Given the description of an element on the screen output the (x, y) to click on. 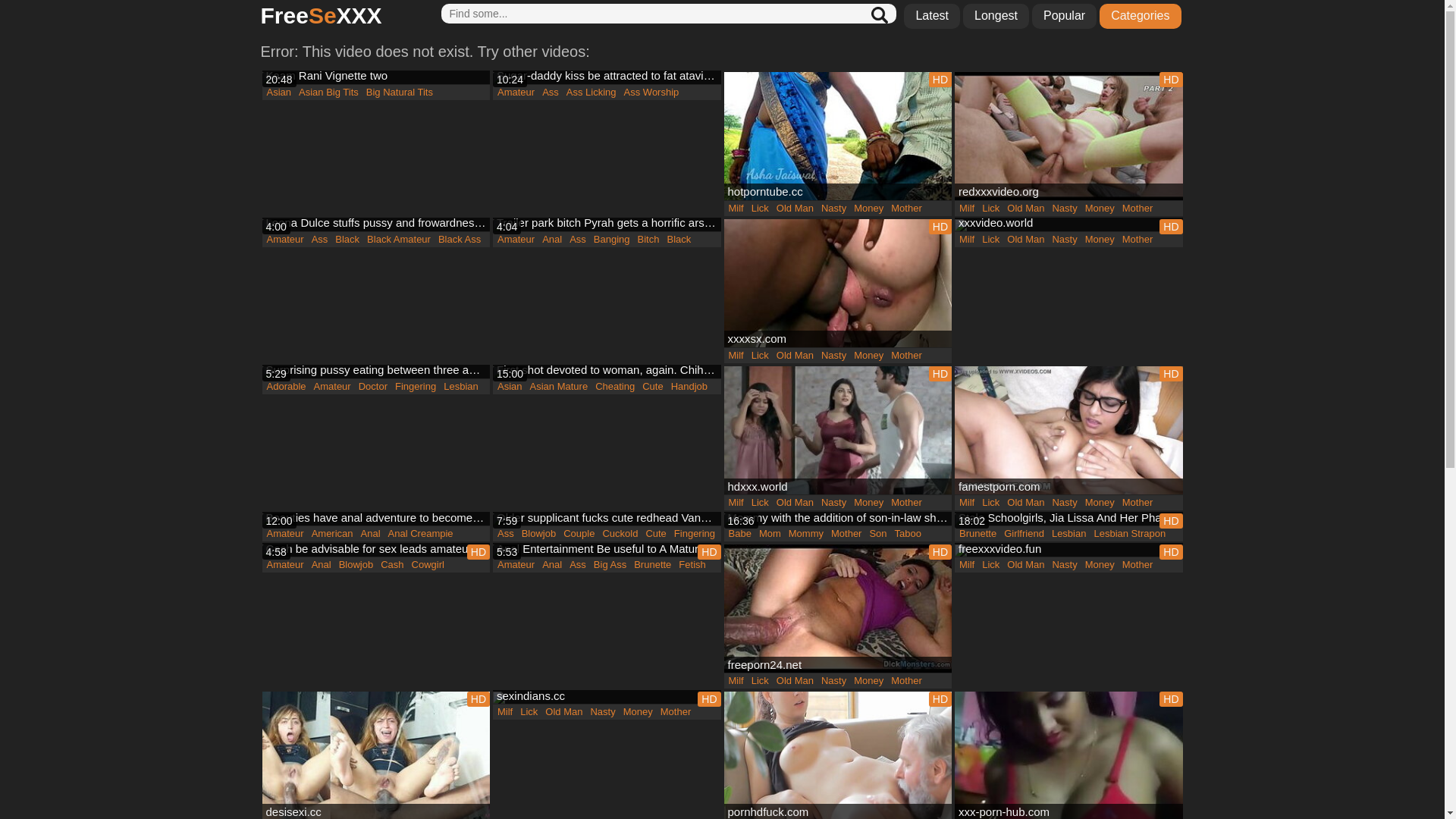
hdxxx.world
HD Element type: text (837, 430)
Lick Element type: text (759, 355)
Mother Element type: text (906, 502)
redxxxvideo.org
HD Element type: text (1068, 136)
Anal Creampie Element type: text (420, 533)
Lick Element type: text (990, 239)
Amateur Element type: text (284, 564)
Black Amateur Element type: text (398, 239)
Amateur Element type: text (284, 239)
Money Element type: text (637, 711)
Use Latin letters, digits, space, - Element type: hover (668, 13)
Milf Element type: text (966, 239)
Ass Element type: text (577, 239)
Fingering Element type: text (694, 533)
hotporntube.cc
HD Element type: text (837, 136)
xxxvideo.world
HD Element type: text (1068, 225)
freexxxvideo.fun
HD Element type: text (1068, 550)
sexindians.cc
HD Element type: text (606, 697)
Beauties have anal adventure to become stars
12:00 Element type: text (376, 519)
Bitch Element type: text (648, 239)
Popular Element type: text (1064, 15)
Blowjob Element type: text (538, 533)
Big Ass Element type: text (609, 564)
Anal Element type: text (551, 564)
Old Man Element type: text (794, 355)
Asian Element type: text (278, 92)
famestporn.com
HD Element type: text (1068, 430)
Amateur Element type: text (515, 239)
Ass Licking Element type: text (591, 92)
Nasty Element type: text (602, 711)
Old Man Element type: text (794, 680)
Cute Element type: text (652, 386)
Ass Element type: text (550, 92)
Old Man Element type: text (1025, 564)
Ass Worship Element type: text (651, 92)
Milf Element type: text (735, 502)
Ass Element type: text (577, 564)
Lesbian Strapon Element type: text (1129, 533)
Nasty Element type: text (1064, 208)
Black Ass Element type: text (459, 239)
Nasty Element type: text (833, 355)
Cowgirl Element type: text (427, 564)
Amateur Element type: text (515, 564)
Asian Mature Element type: text (559, 386)
Nasty Element type: text (833, 502)
Mother Element type: text (846, 533)
Money Element type: text (868, 680)
Cash Element type: text (391, 564)
Girlfriend Element type: text (1024, 533)
Money Element type: text (868, 208)
Milf Element type: text (966, 502)
American Element type: text (332, 533)
Longest Element type: text (996, 15)
Cuckold Element type: text (619, 533)
Lick Element type: text (528, 711)
Mother Element type: text (1137, 239)
Fingering Element type: text (415, 386)
Doctor Element type: text (372, 386)
Mom Element type: text (769, 533)
Nasty Element type: text (1064, 239)
Taboo Element type: text (908, 533)
Amateur Element type: text (515, 92)
Black Element type: text (347, 239)
Couple Element type: text (578, 533)
Babe Element type: text (739, 533)
Ass Element type: text (319, 239)
FreeSeXXX Element type: text (321, 16)
Old Man Element type: text (563, 711)
Mother Element type: text (906, 208)
Lesbian Element type: text (1069, 533)
Milf Element type: text (735, 355)
Banging Element type: text (611, 239)
Old Man Element type: text (1025, 208)
Amateur Element type: text (332, 386)
Cheating Element type: text (614, 386)
Nasty Element type: text (1064, 564)
Nasty Element type: text (833, 208)
Ass Element type: text (505, 533)
Money Element type: text (868, 502)
Milf Element type: text (504, 711)
xxxxsx.com
HD Element type: text (837, 283)
Milf Element type: text (966, 564)
Lesbian Element type: text (460, 386)
Lick Element type: text (759, 502)
Sugar-daddy kiss be attracted to fat atavistic tit
10:24 Element type: text (606, 78)
Asian Element type: text (509, 386)
Anal Element type: text (551, 239)
Fetish Element type: text (691, 564)
Money Element type: text (1099, 239)
Old Man Element type: text (1025, 502)
Handjob Element type: text (689, 386)
Anal Element type: text (370, 533)
Mother Element type: text (1137, 502)
Money Element type: text (1099, 502)
freeporn24.net
HD Element type: text (837, 608)
Milf Element type: text (735, 208)
Cute Element type: text (655, 533)
Lick Element type: text (990, 564)
Milf Element type: text (966, 208)
Lick Element type: text (759, 208)
Milf Element type: text (735, 680)
Latest Element type: text (931, 15)
Lick Element type: text (990, 208)
Nasty Element type: text (1064, 502)
Nasty Element type: text (833, 680)
Adorable Element type: text (285, 386)
Mother Element type: text (675, 711)
Money Element type: text (1099, 208)
Mother Element type: text (906, 680)
Mommy Element type: text (805, 533)
Brunette Element type: text (977, 533)
Brunette Element type: text (652, 564)
Mother Element type: text (1137, 564)
Amateur Element type: text (284, 533)
Kaam Rani Vignette two
20:48 Element type: text (376, 78)
Money Element type: text (868, 355)
Categories Element type: text (1139, 15)
Lick Element type: text (759, 680)
Old Man Element type: text (794, 208)
Big Natural Tits Element type: text (399, 92)
Old Man Element type: text (1025, 239)
Mother Element type: text (1137, 208)
First shot devoted to woman, again. Chihiro Hanamura
15:00 Element type: text (606, 372)
Old Man Element type: text (794, 502)
Son Element type: text (877, 533)
Blowjob Element type: text (356, 564)
Asian Big Tits Element type: text (328, 92)
Anal Element type: text (321, 564)
Black Element type: text (678, 239)
Mother Element type: text (906, 355)
Money Element type: text (1099, 564)
Lick Element type: text (990, 502)
